Given the description of an element on the screen output the (x, y) to click on. 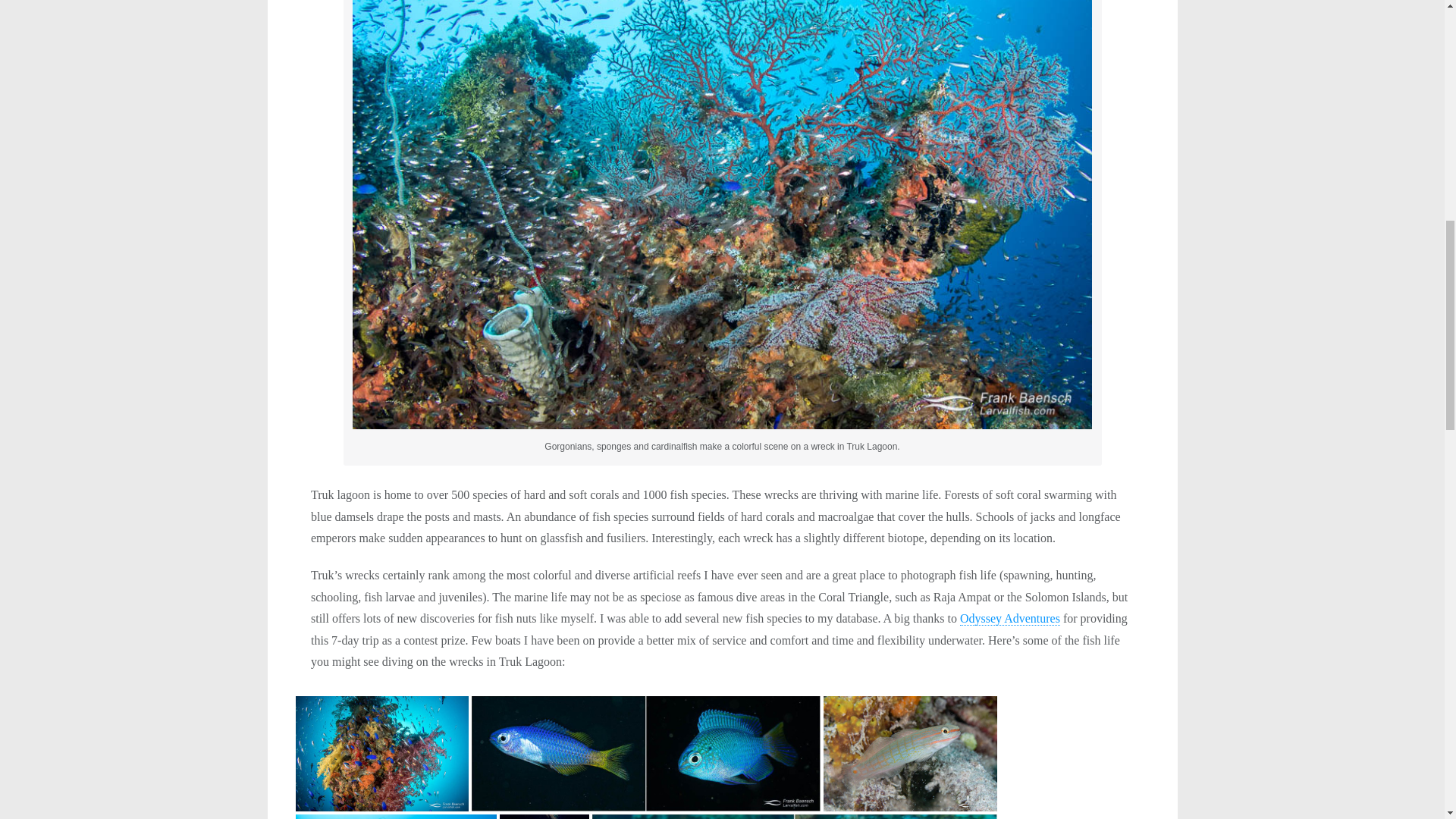
Odyssey Adventures (1009, 618)
